Given the description of an element on the screen output the (x, y) to click on. 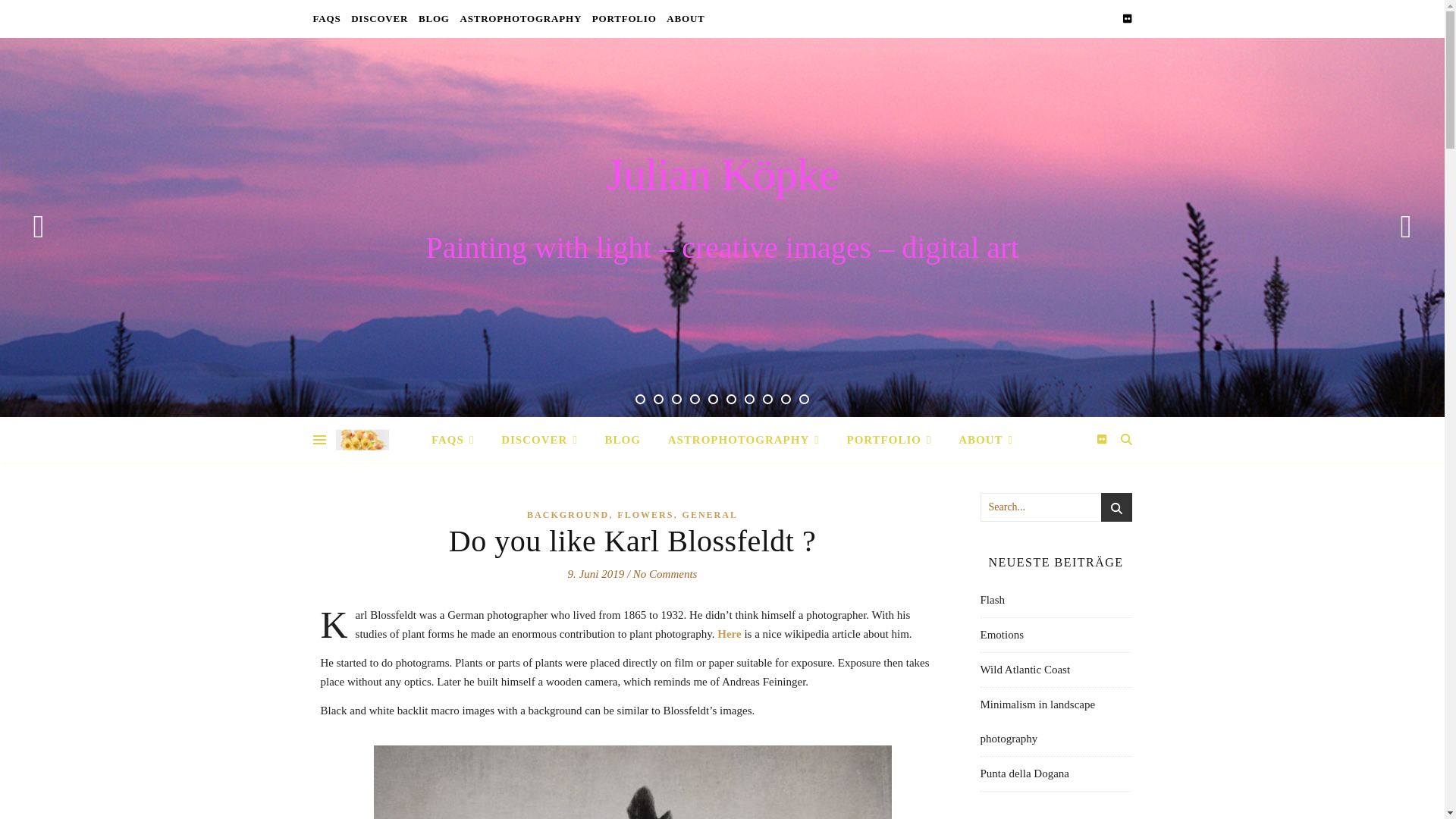
PORTFOLIO (624, 18)
DISCOVER (379, 18)
BLOG (433, 18)
ASTROPHOTOGRAPHY (520, 18)
